Given the description of an element on the screen output the (x, y) to click on. 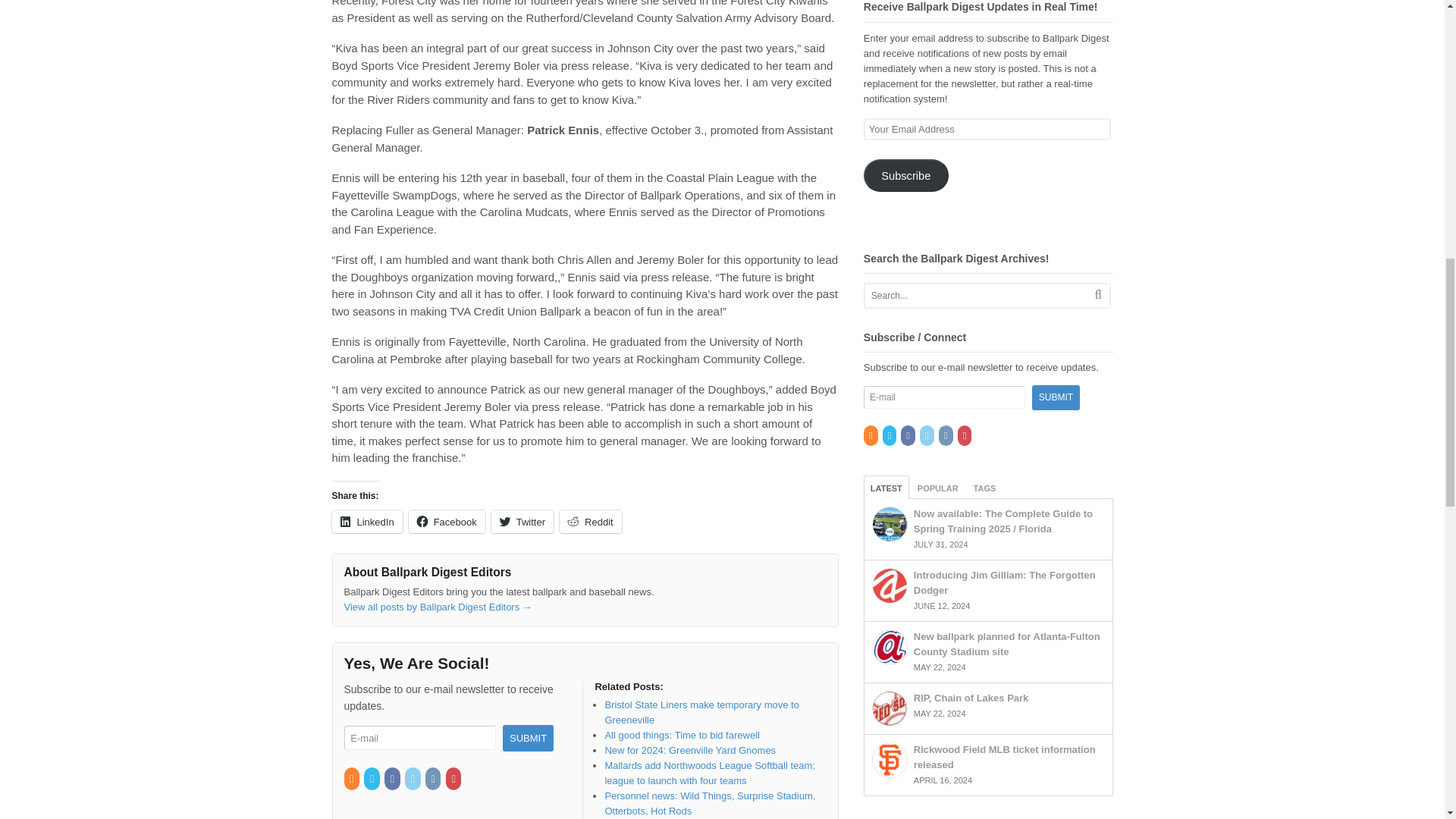
Instagram (433, 778)
LinkedIn (367, 521)
Pinterest (454, 778)
Twitter (372, 778)
Submit (527, 737)
Facebook (392, 778)
Click to share on LinkedIn (367, 521)
Bristol State Liners make temporary move to Greeneville (701, 712)
Search... (974, 295)
E-mail (419, 738)
